Given the description of an element on the screen output the (x, y) to click on. 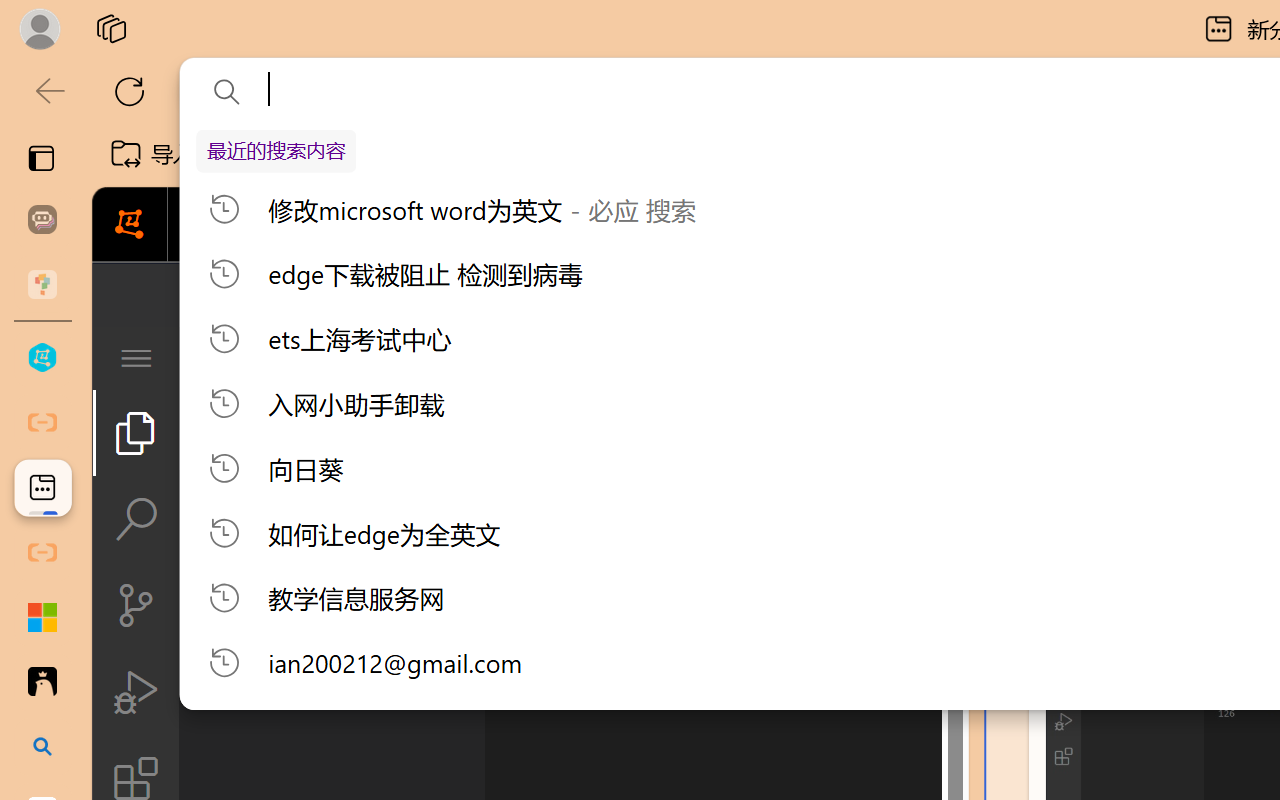
Run and Debug (Ctrl+Shift+D) (135, 692)
Explorer actions (391, 358)
Adjust indents and spacing - Microsoft Support (42, 617)
Class: menubar compact overflow-menu-only (135, 358)
